Given the description of an element on the screen output the (x, y) to click on. 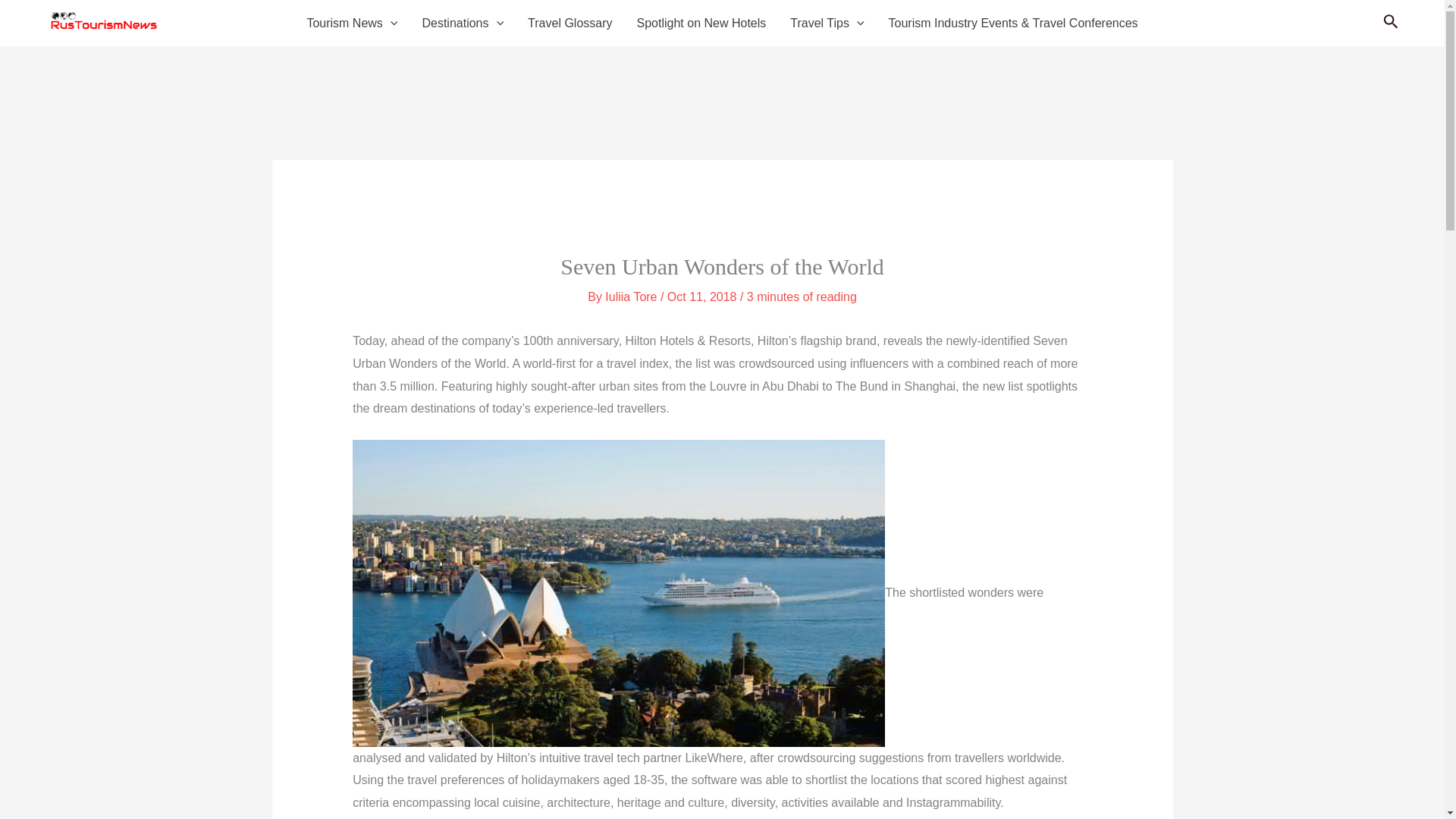
Destinations (462, 23)
Tourism News (351, 23)
View all posts by Iuliia Tore (633, 296)
